Given the description of an element on the screen output the (x, y) to click on. 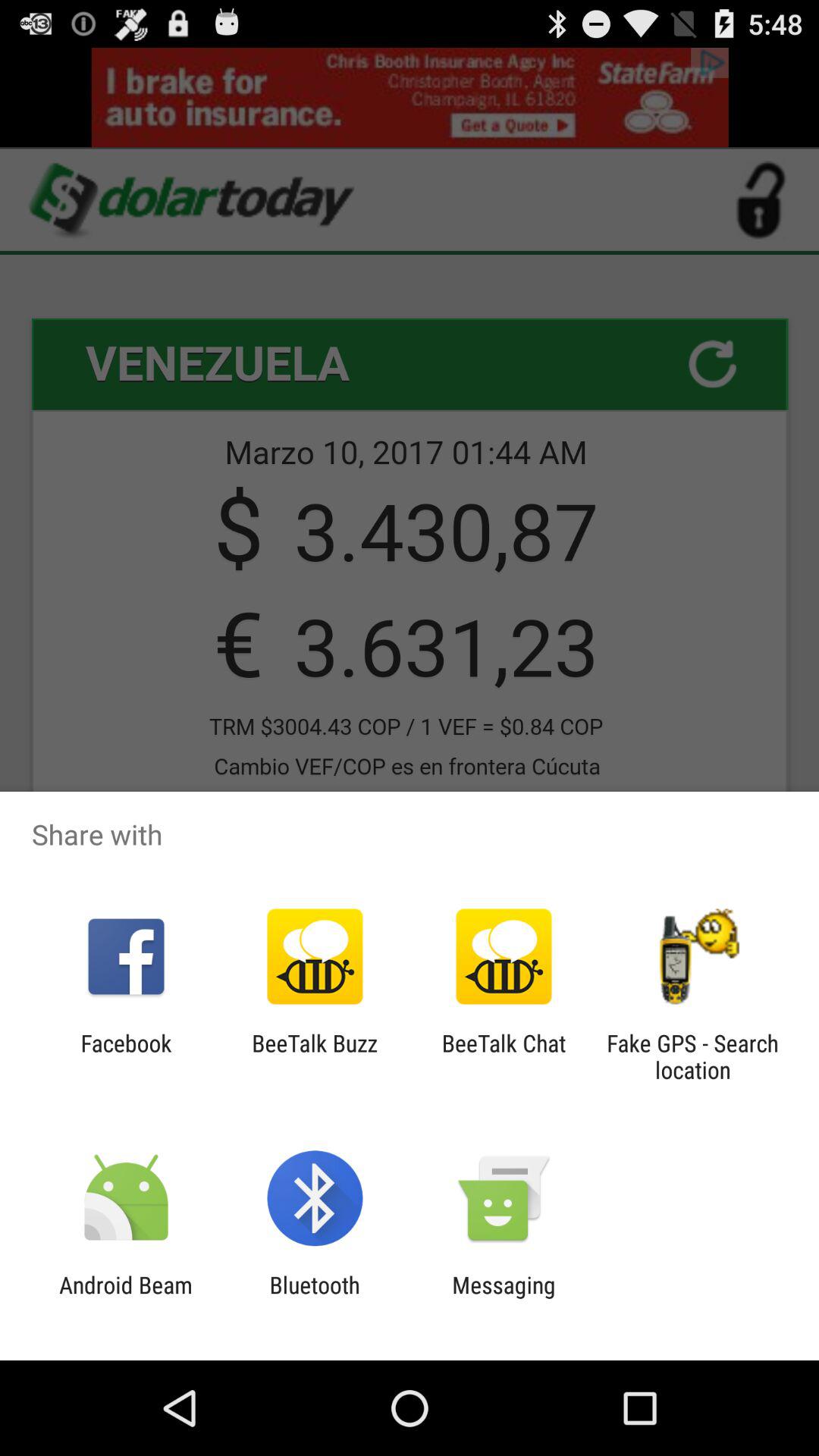
tap the app to the right of beetalk buzz (503, 1056)
